Given the description of an element on the screen output the (x, y) to click on. 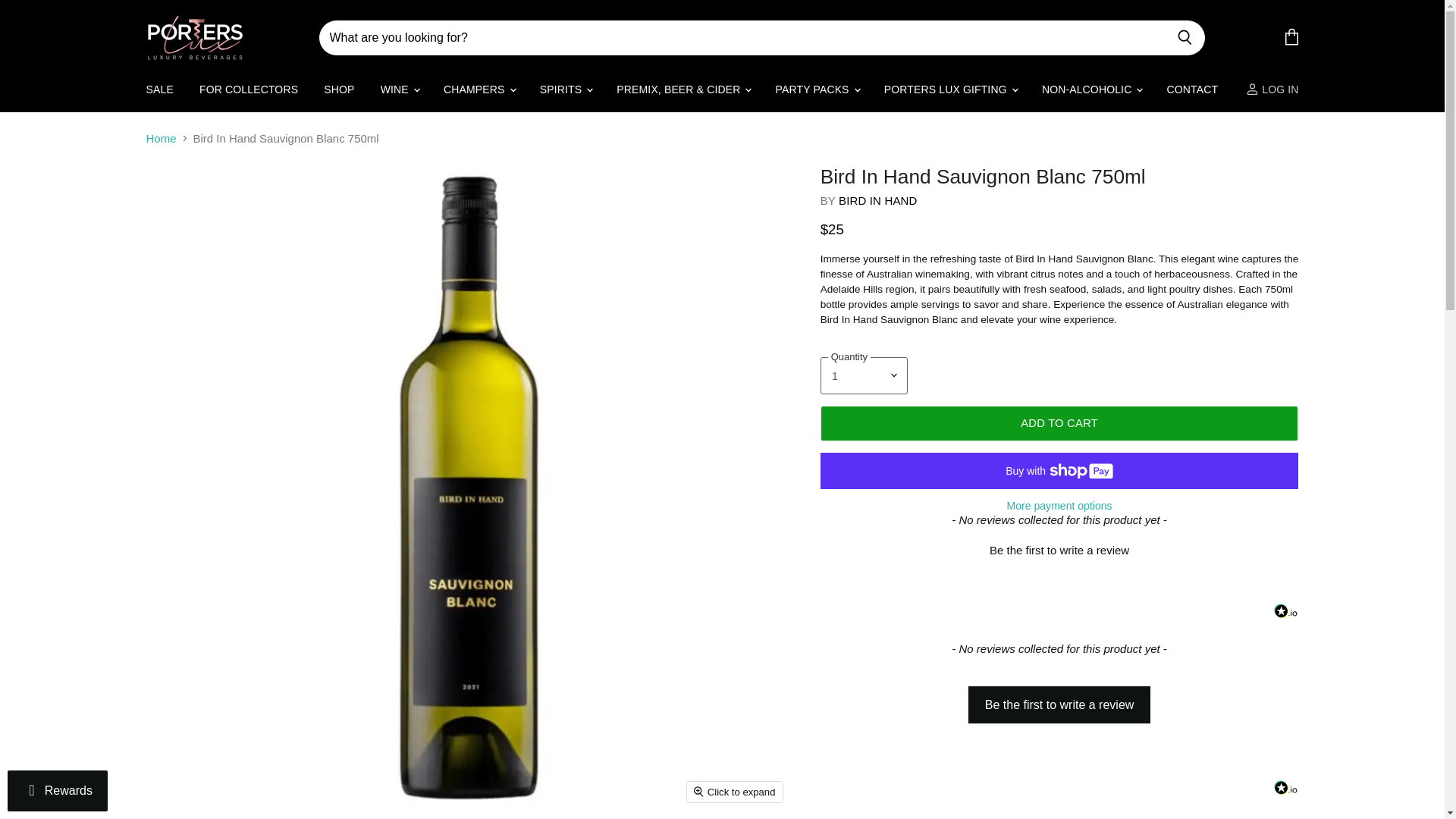
FOR COLLECTORS (247, 89)
WINE (399, 89)
SHOP (339, 89)
SALE (159, 89)
Bird In Hand (877, 200)
ACCOUNT ICON (1252, 88)
